Given the description of an element on the screen output the (x, y) to click on. 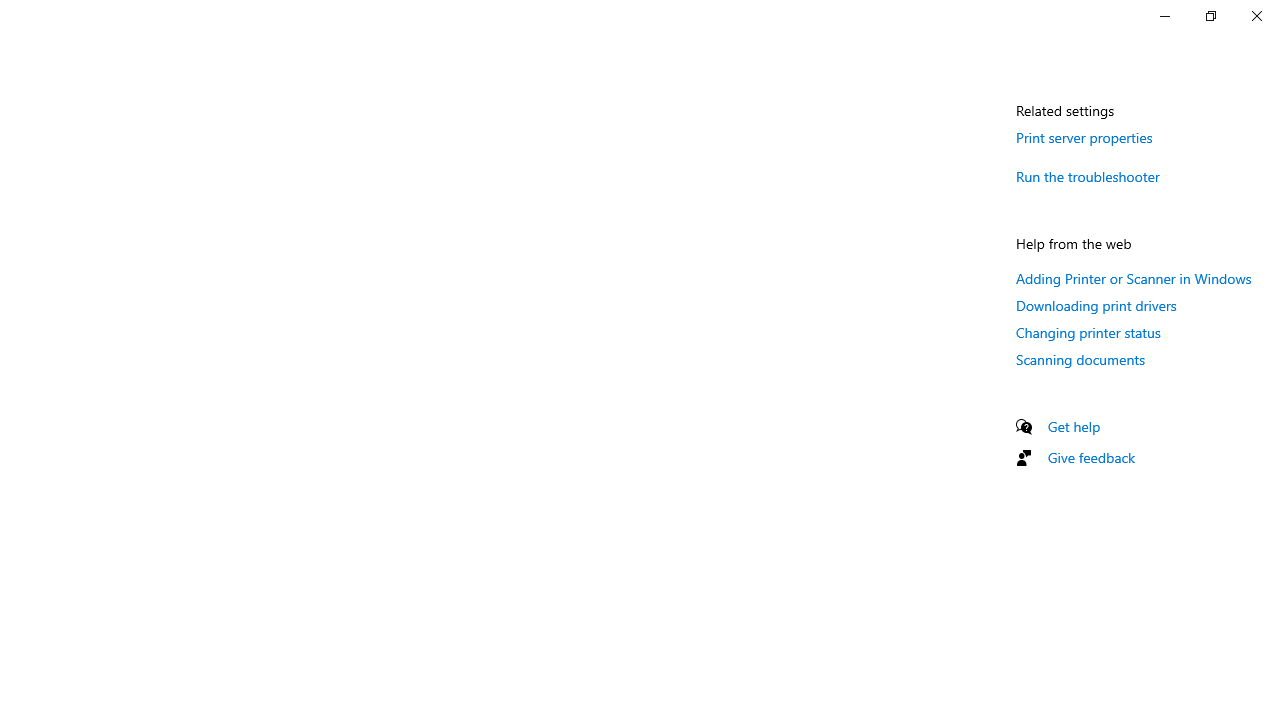
Print server properties (1084, 137)
Changing printer status (1088, 332)
Adding Printer or Scanner in Windows (1133, 278)
Run the troubleshooter (1087, 176)
Scanning documents (1080, 358)
Give feedback (1091, 457)
Downloading print drivers (1096, 305)
